Given the description of an element on the screen output the (x, y) to click on. 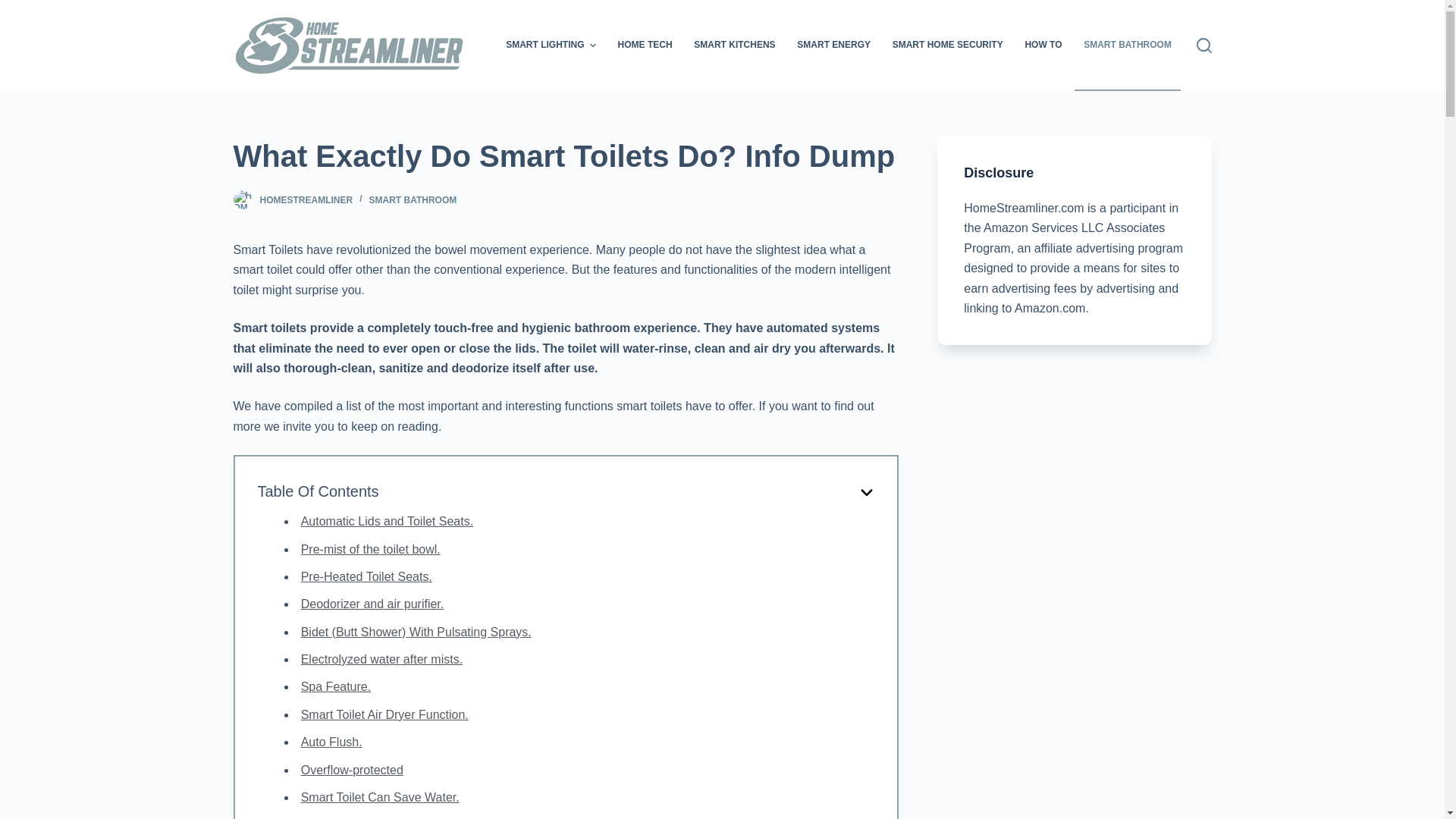
SMART ENERGY (833, 45)
Skip to content (15, 7)
What Exactly Do Smart Toilets Do? Info Dump (565, 156)
SMART BATHROOM (1127, 45)
SMART LIGHTING (550, 45)
HOMESTREAMLINER (305, 199)
Posts by HomeStreamliner (305, 199)
SMART HOME SECURITY (946, 45)
SMART KITCHENS (734, 45)
